Given the description of an element on the screen output the (x, y) to click on. 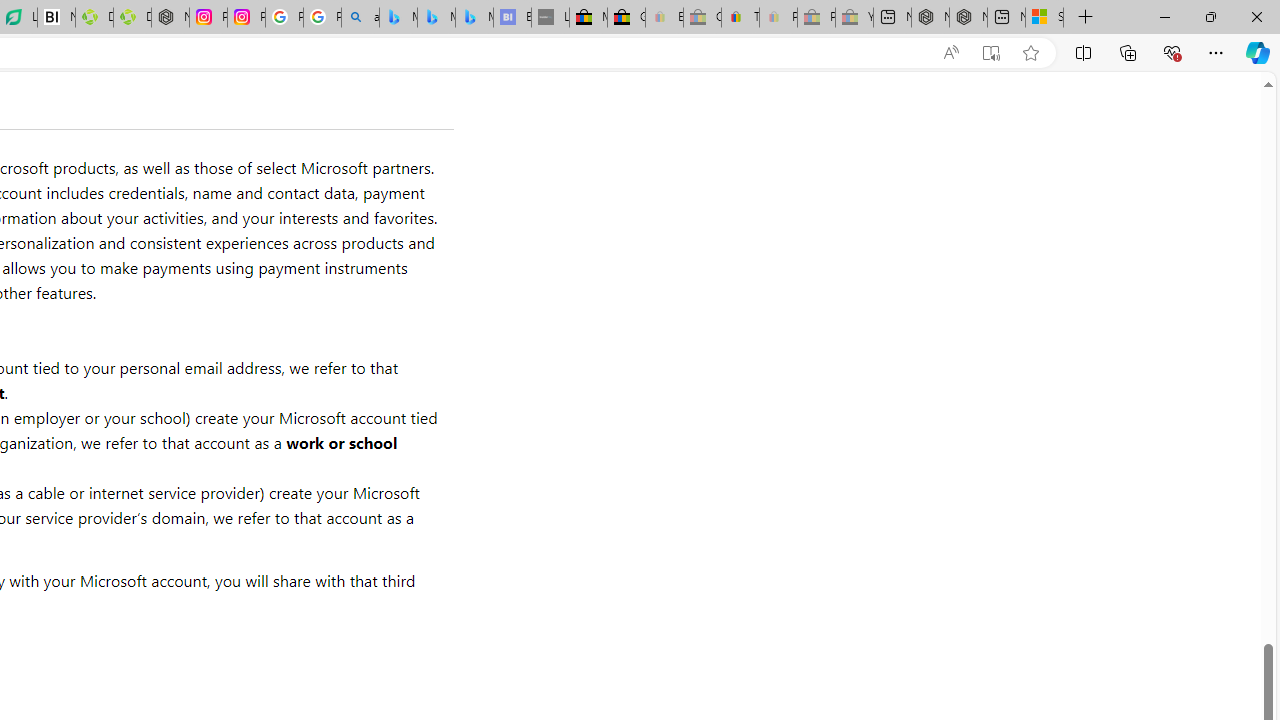
Descarga Driver Updater (132, 17)
Microsoft Bing Travel - Shangri-La Hotel Bangkok (473, 17)
Yard, Garden & Outdoor Living - Sleeping (853, 17)
alabama high school quarterback dies - Search (359, 17)
Microsoft Bing Travel - Flights from Hong Kong to Bangkok (398, 17)
